Given the description of an element on the screen output the (x, y) to click on. 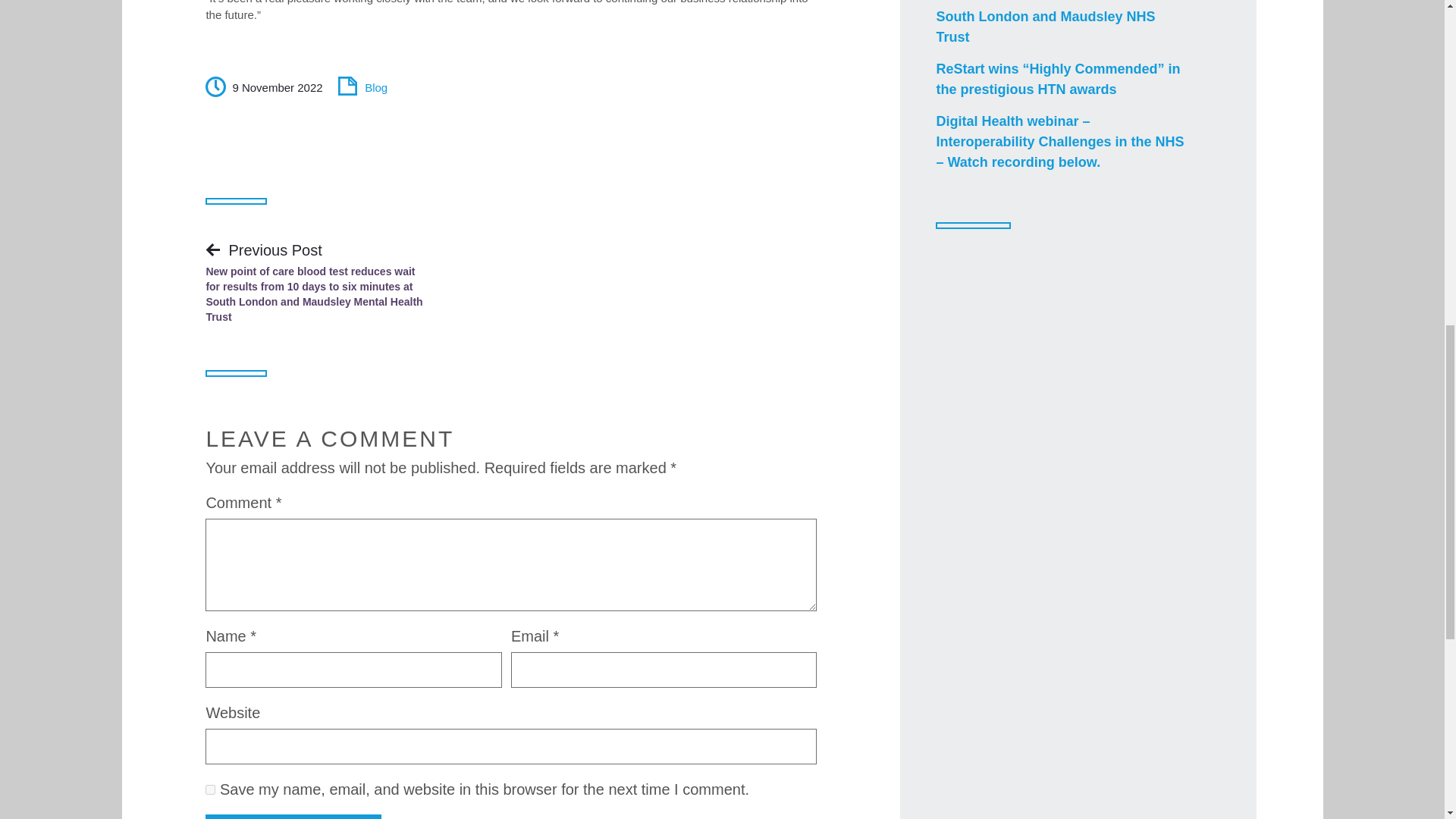
South London and Maudsley NHS Trust (1060, 30)
Post Comment (293, 816)
yes (210, 789)
Post Comment (293, 816)
Blog (376, 91)
